Given the description of an element on the screen output the (x, y) to click on. 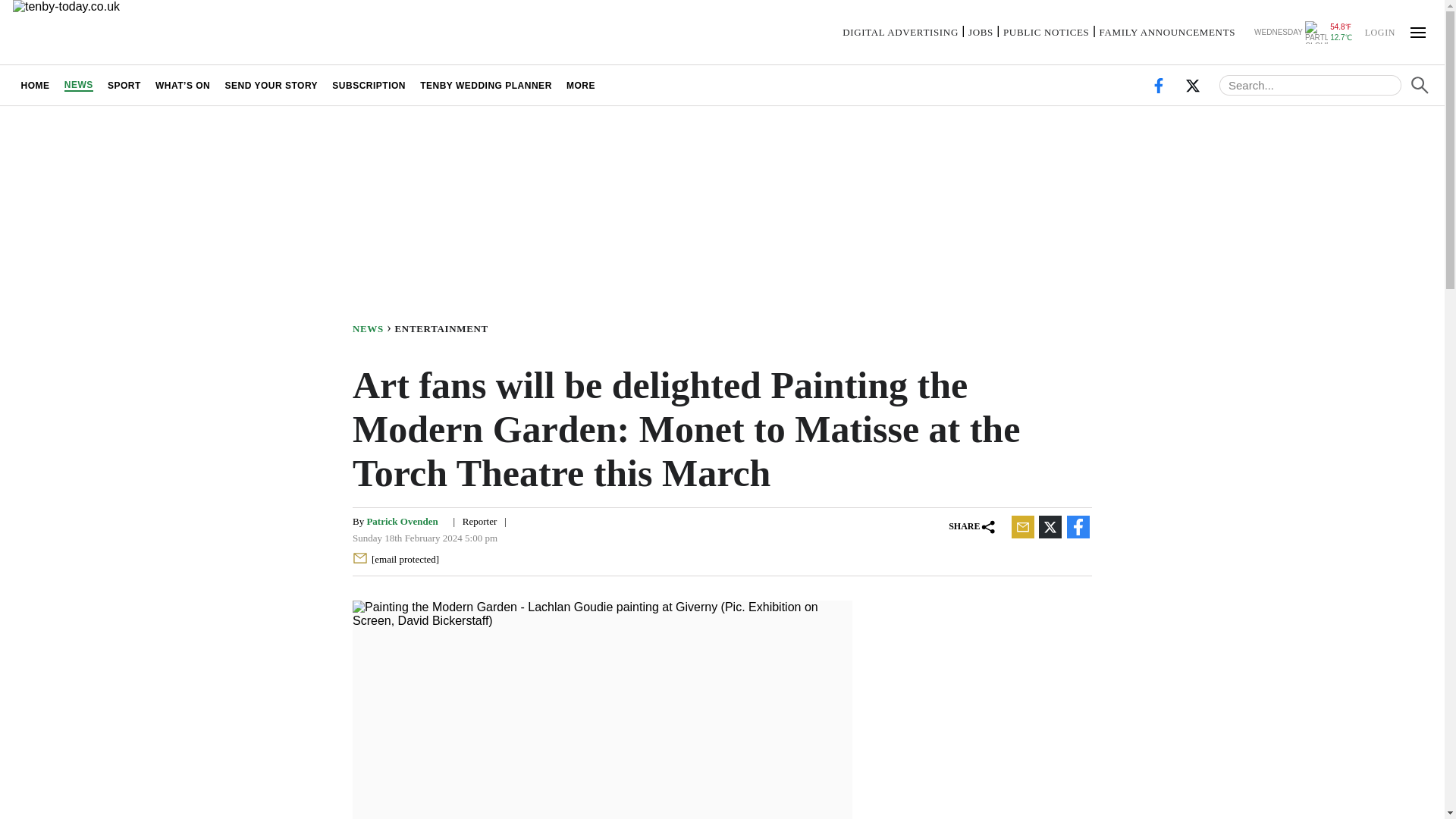
MORE (580, 85)
TENBY WEDDING PLANNER (486, 85)
ENTERTAINMENT (444, 328)
NEWS (373, 328)
LOGIN (1379, 31)
SPORT (124, 85)
HOME (34, 85)
NEWS (78, 85)
FAMILY ANNOUNCEMENTS (1166, 32)
Patrick Ovenden (402, 521)
SEND YOUR STORY (270, 85)
SUBSCRIPTION (368, 85)
